Given the description of an element on the screen output the (x, y) to click on. 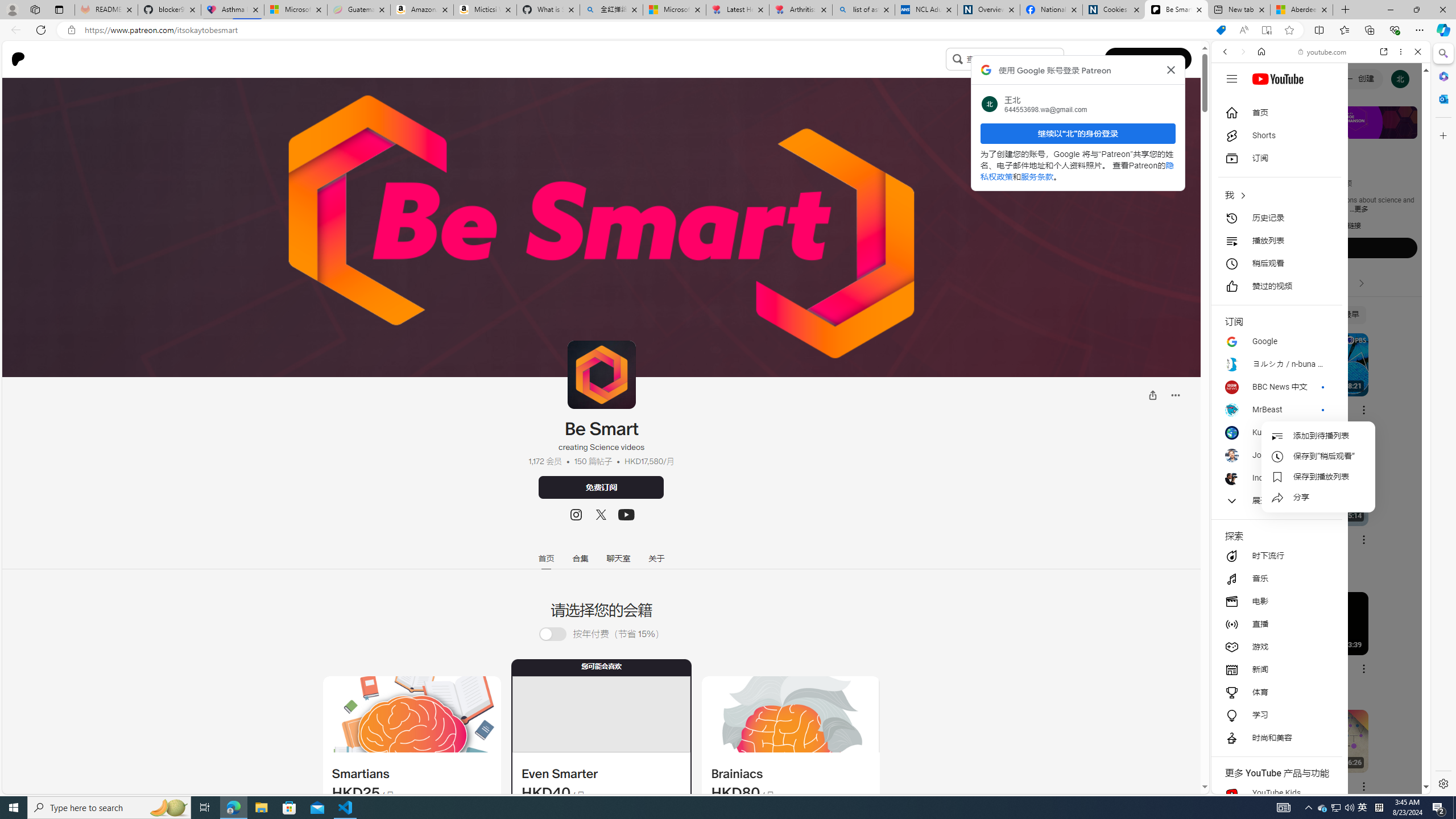
Web scope (1230, 102)
This site scope (1259, 102)
Aberdeen, Hong Kong SAR hourly forecast | Microsoft Weather (1301, 9)
Class: b_serphb (1404, 130)
Shorts (1275, 135)
